Given the description of an element on the screen output the (x, y) to click on. 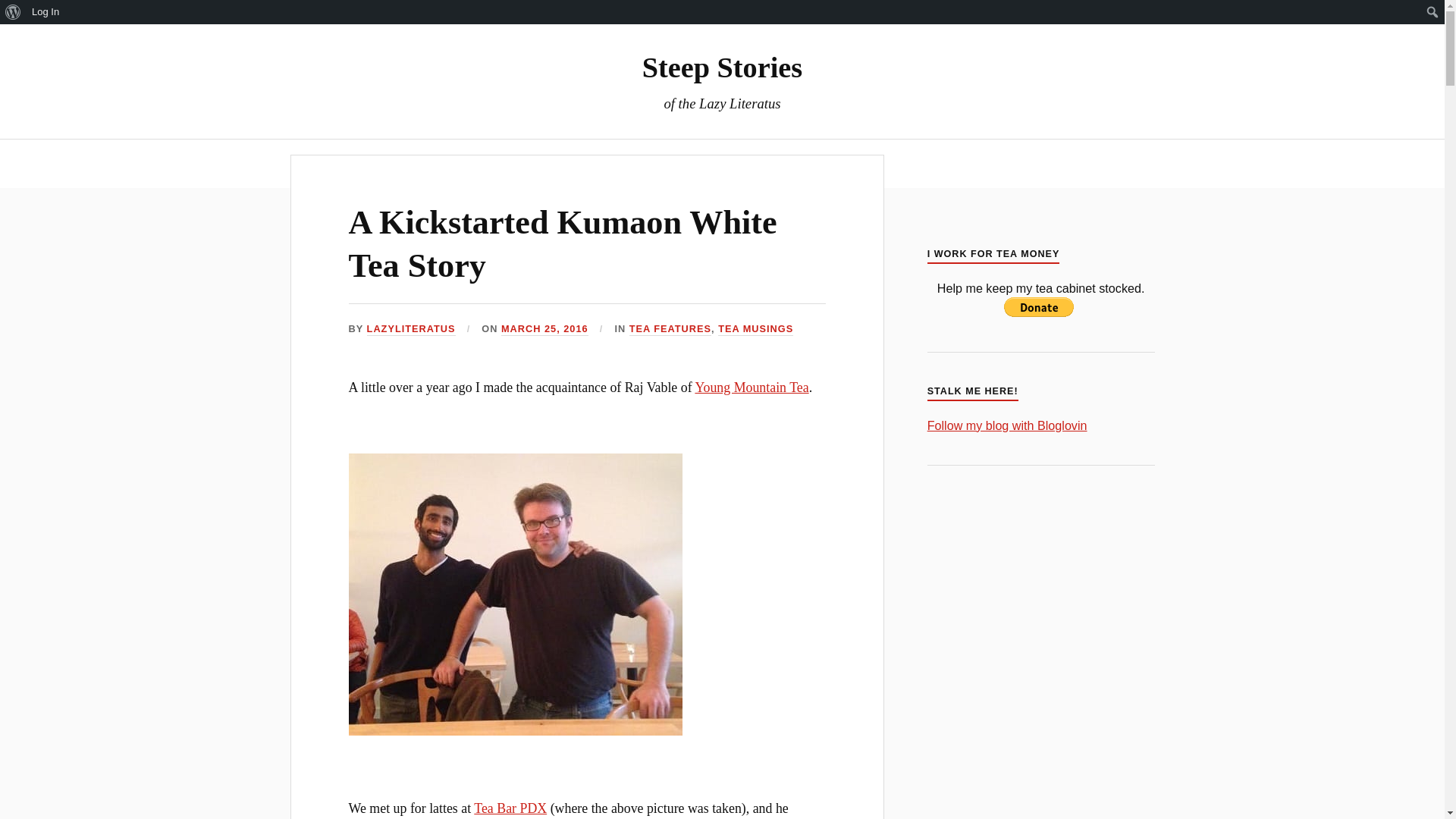
Posts by lazyliteratus (410, 328)
Young Mountain Tea (751, 387)
MARCH 25, 2016 (544, 328)
TEA MUSINGS (755, 328)
Log In (45, 12)
Steep Stories (722, 67)
TEA FEATURES (669, 328)
Search (15, 12)
Tea Bar PDX (510, 807)
LAZYLITERATUS (410, 328)
